Given the description of an element on the screen output the (x, y) to click on. 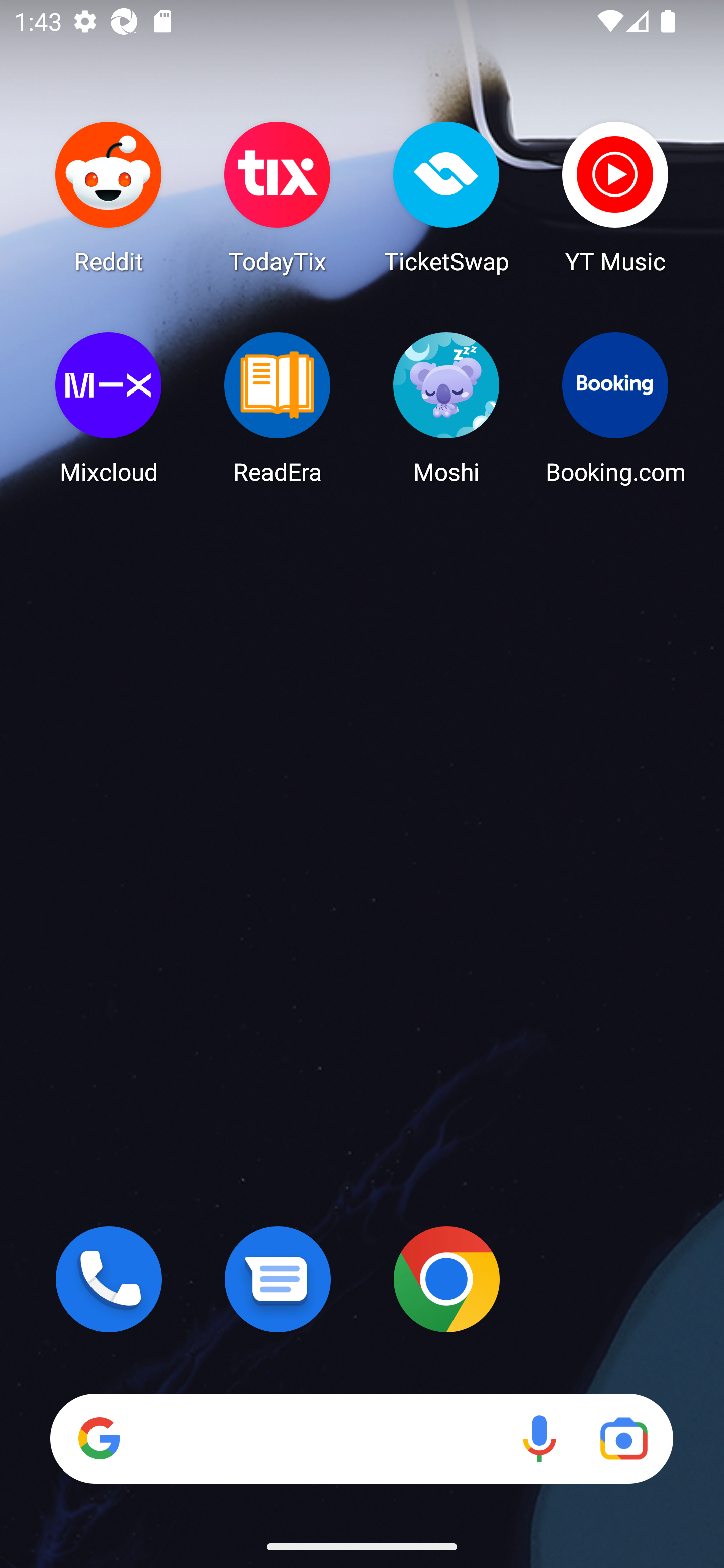
Reddit (108, 196)
TodayTix (277, 196)
TicketSwap (445, 196)
YT Music (615, 196)
Mixcloud (108, 407)
ReadEra (277, 407)
Moshi (445, 407)
Booking.com (615, 407)
Phone (108, 1279)
Messages (277, 1279)
Chrome (446, 1279)
Search Voice search Google Lens (361, 1438)
Voice search (539, 1438)
Google Lens (623, 1438)
